Given the description of an element on the screen output the (x, y) to click on. 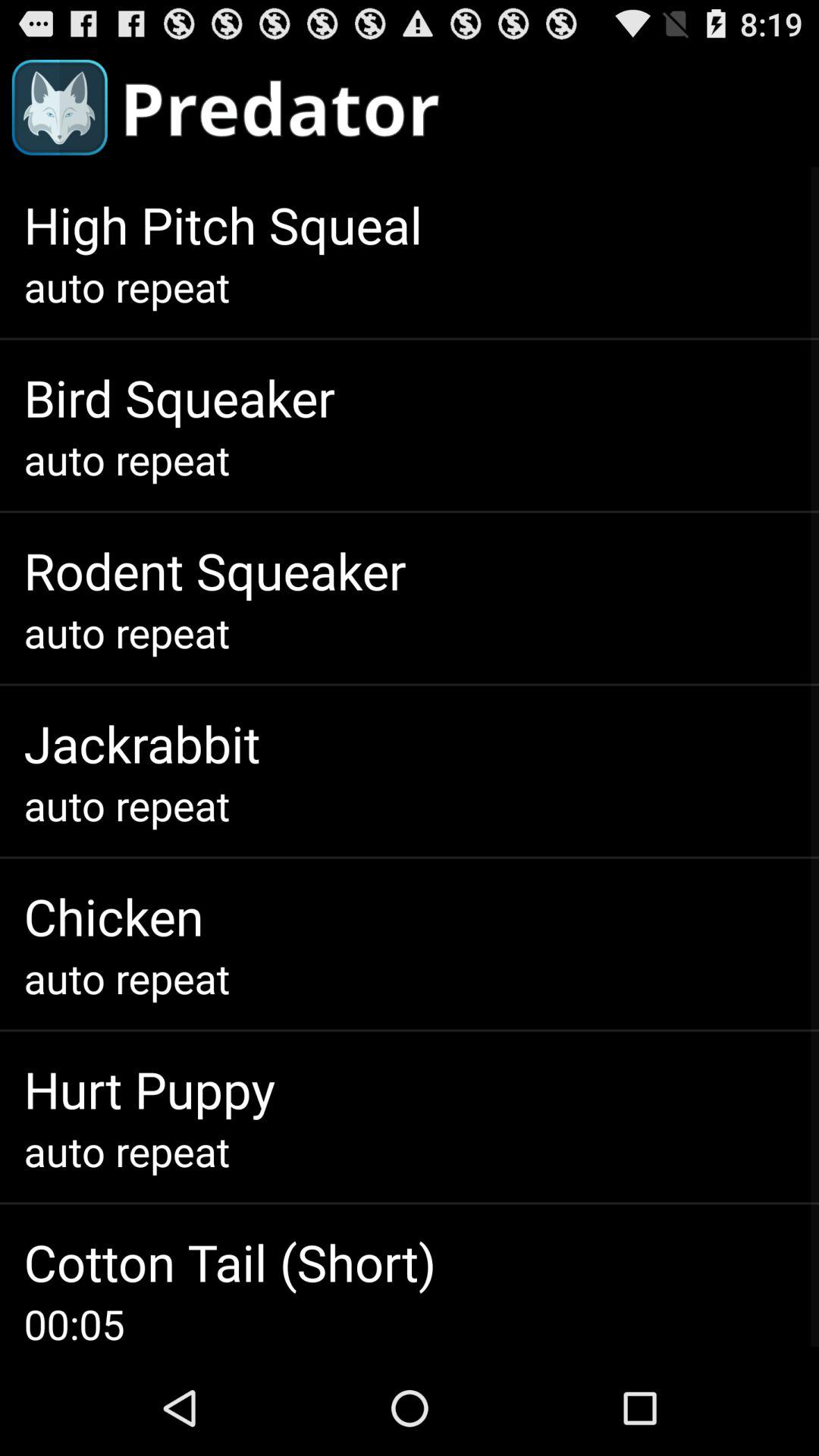
launch item below auto repeat app (149, 1089)
